Given the description of an element on the screen output the (x, y) to click on. 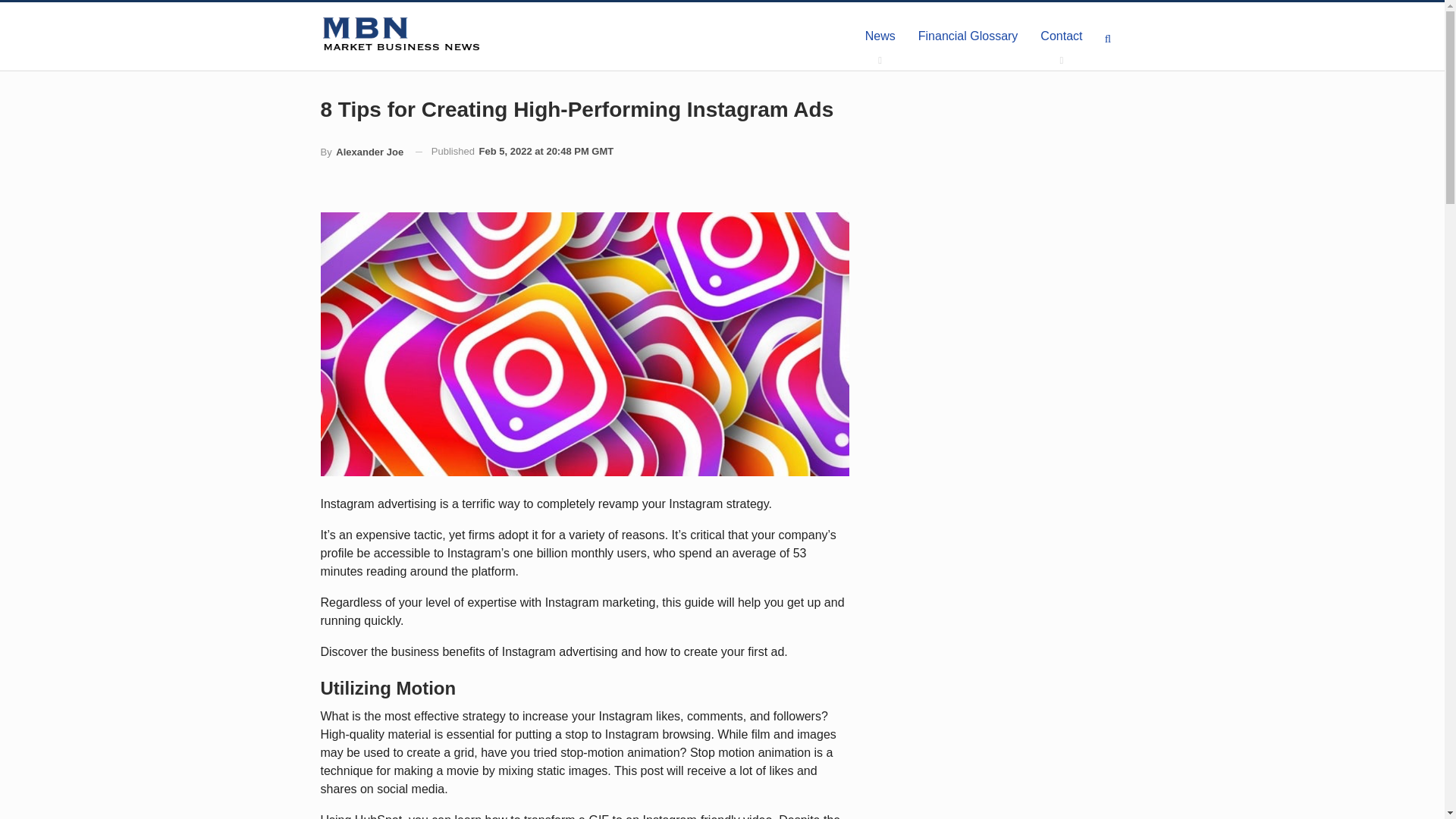
Contact (1061, 36)
Browse Author Articles (361, 152)
By Alexander Joe (361, 152)
Financial Glossary (968, 36)
